Given the description of an element on the screen output the (x, y) to click on. 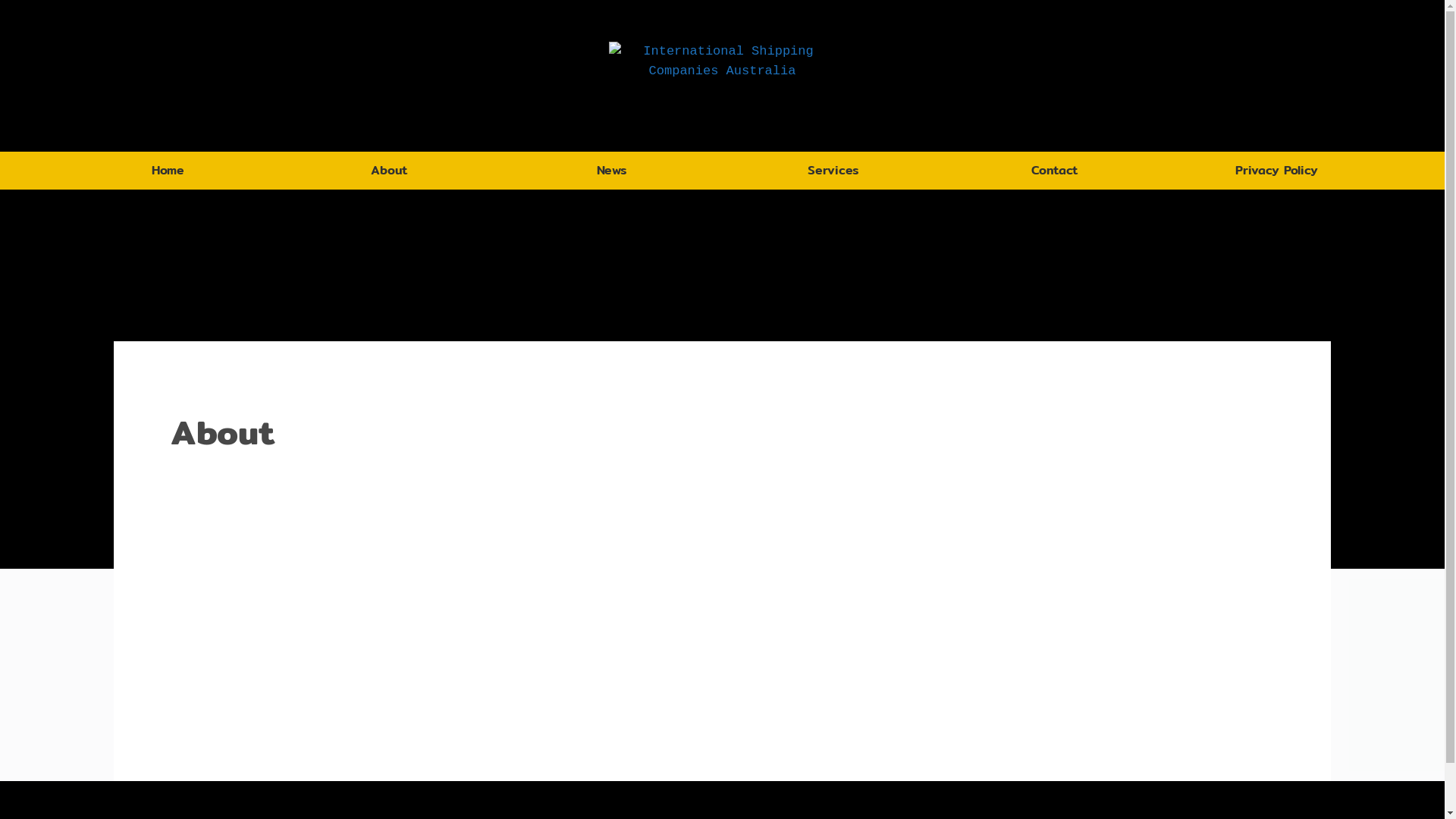
Contact Element type: text (1054, 169)
Home Element type: text (167, 169)
Services Element type: text (832, 169)
Privacy Policy Element type: text (1276, 169)
International Shipping Companies Australia Element type: hover (721, 75)
News Element type: text (611, 169)
About Element type: text (388, 169)
